Given the description of an element on the screen output the (x, y) to click on. 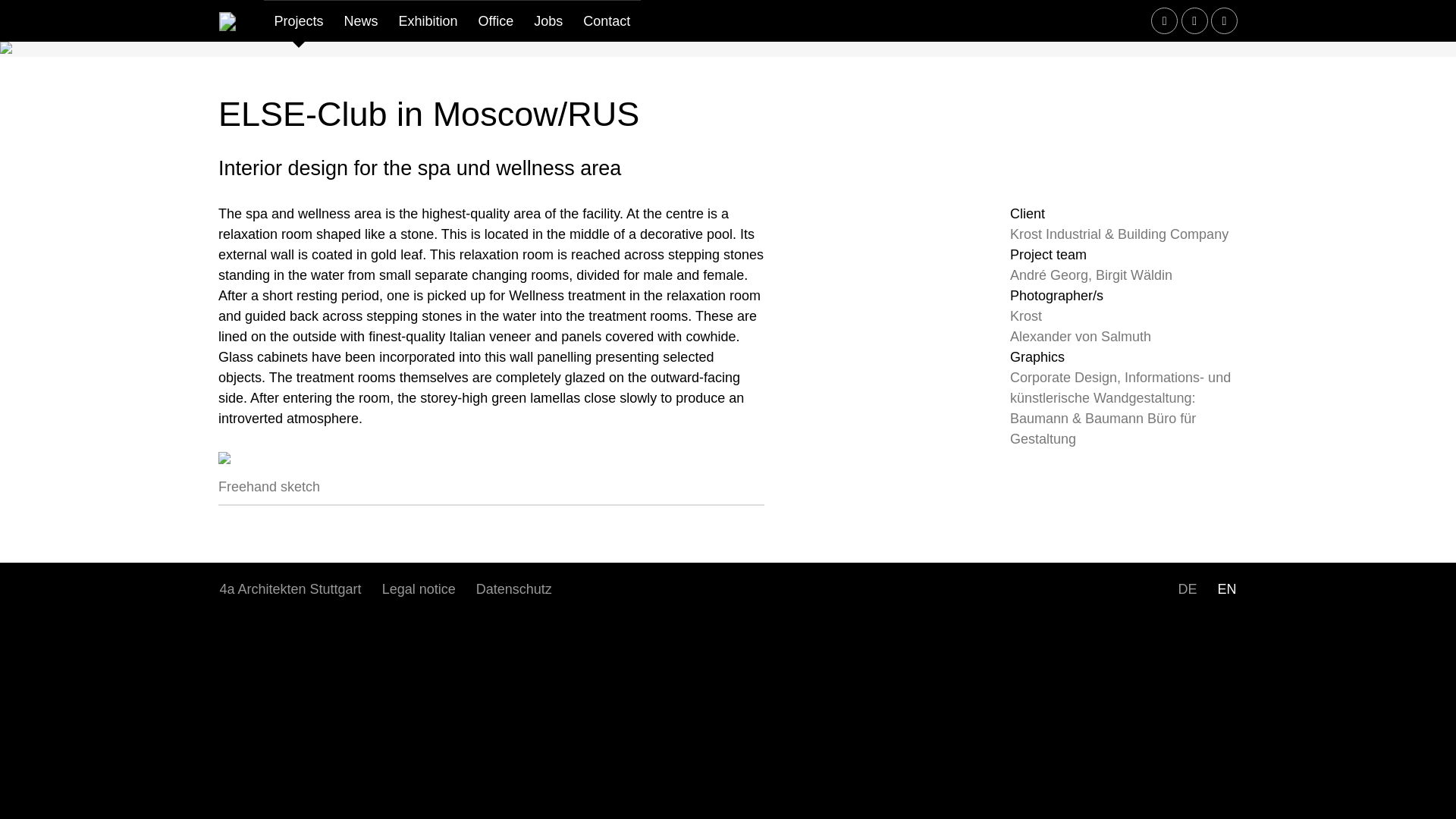
4a Architekten Stuttgart (290, 588)
DE (1187, 588)
EN (1226, 588)
Exhibition (427, 20)
Legal notice (418, 588)
Projects (298, 20)
Contact (606, 20)
Office (495, 20)
Datenschutz (513, 588)
Jobs (548, 20)
News (360, 20)
